Given the description of an element on the screen output the (x, y) to click on. 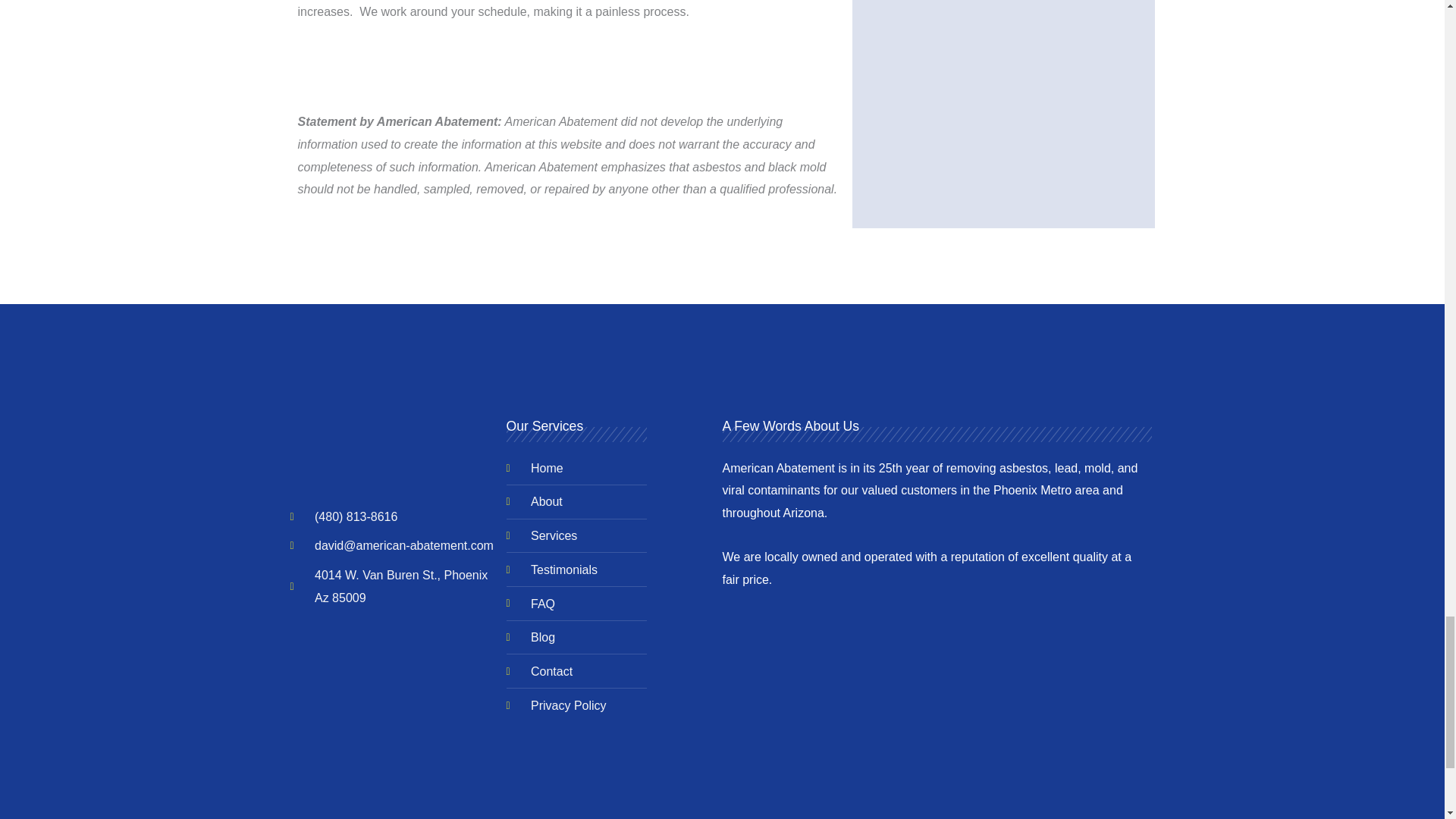
Maricopa County (927, 651)
EIA (892, 735)
Veteran Owned (1015, 651)
EIA Arazona (1102, 651)
US EPA (843, 651)
IAQA (1045, 735)
American Abatement (392, 459)
EPA Lead-Safe (781, 735)
American Abatement Google Map (392, 681)
